Given the description of an element on the screen output the (x, y) to click on. 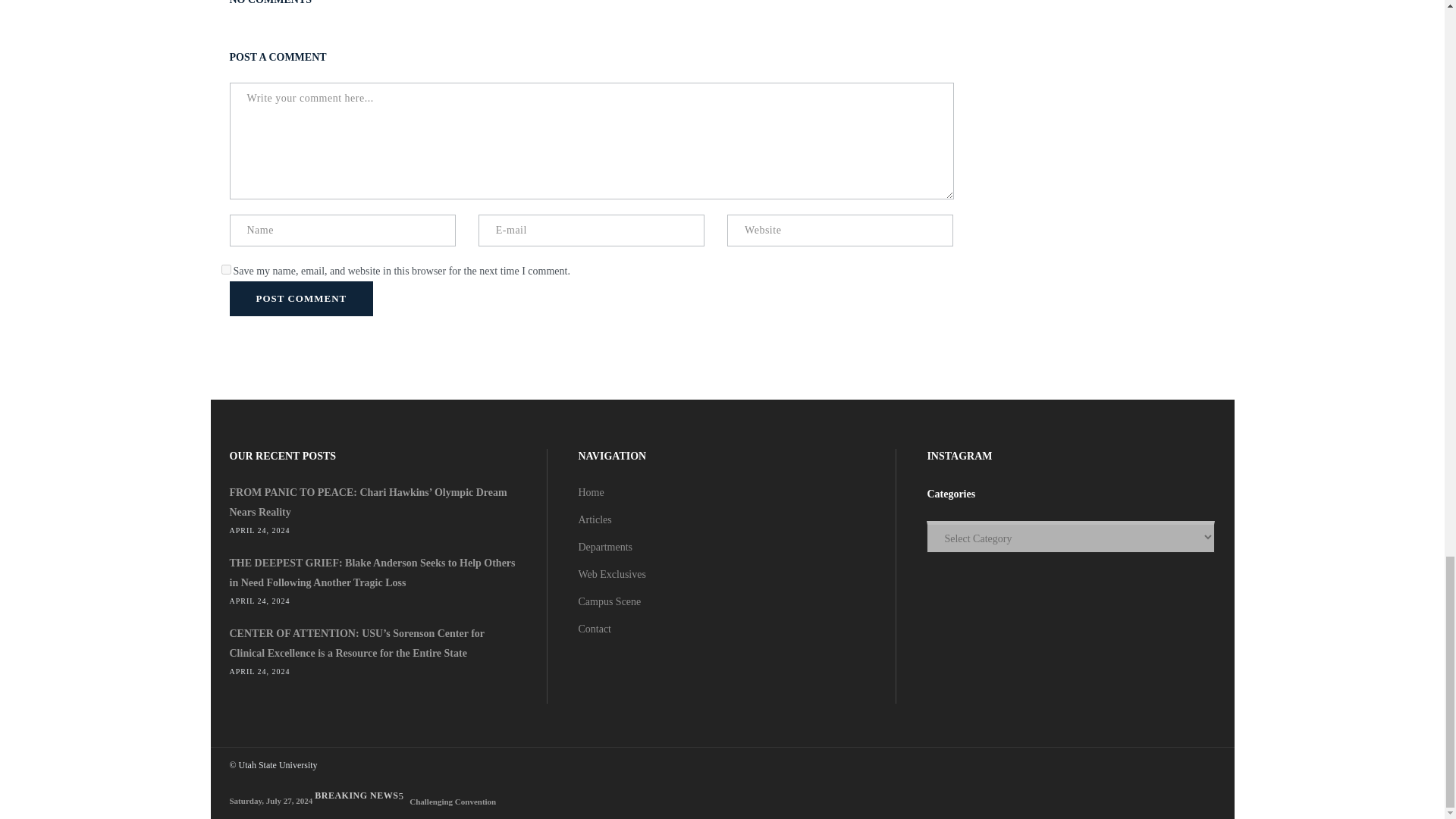
yes (226, 269)
POST COMMENT (300, 298)
